Given the description of an element on the screen output the (x, y) to click on. 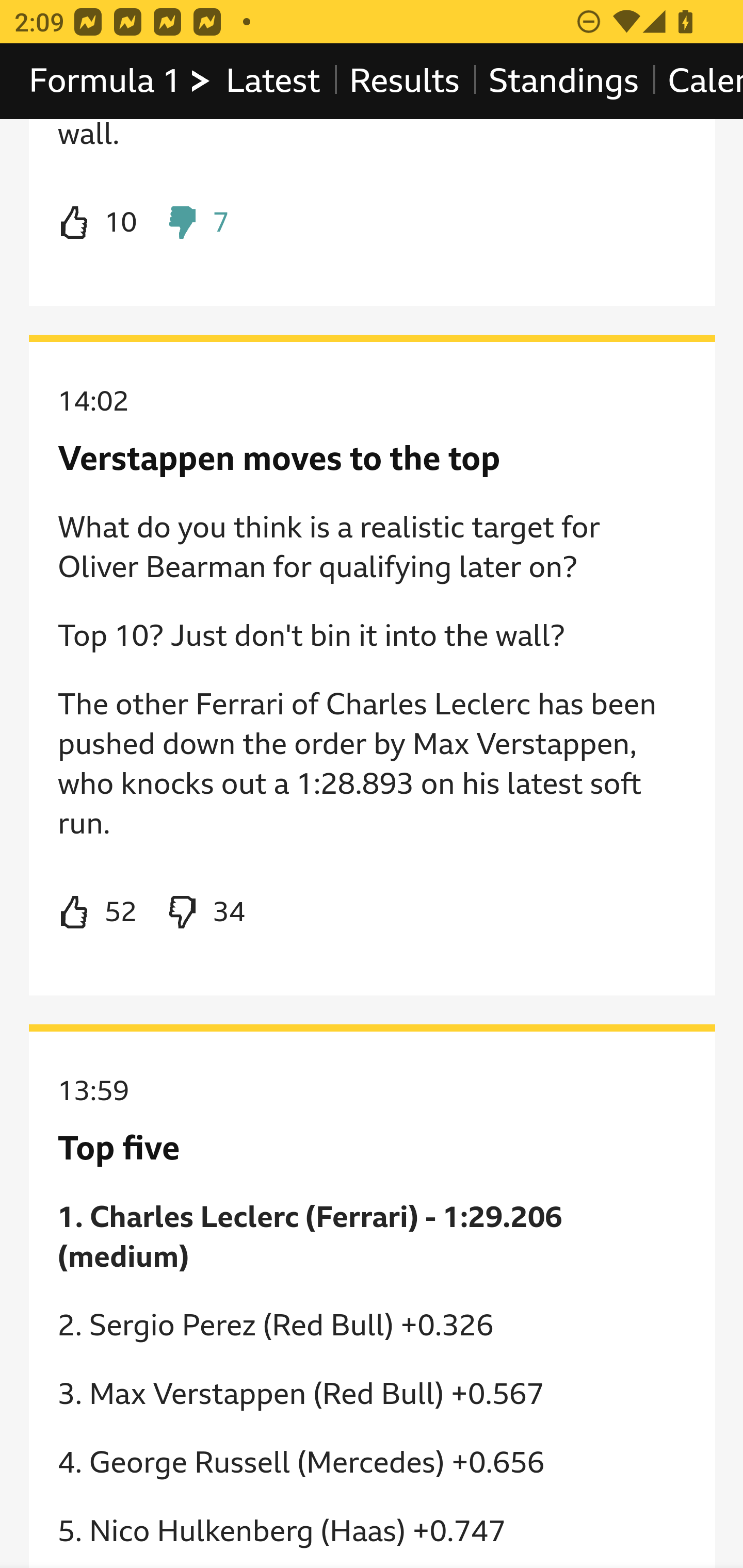
Like (97, 222)
Disliked (196, 222)
Like (97, 912)
Dislike (204, 912)
